Given the description of an element on the screen output the (x, y) to click on. 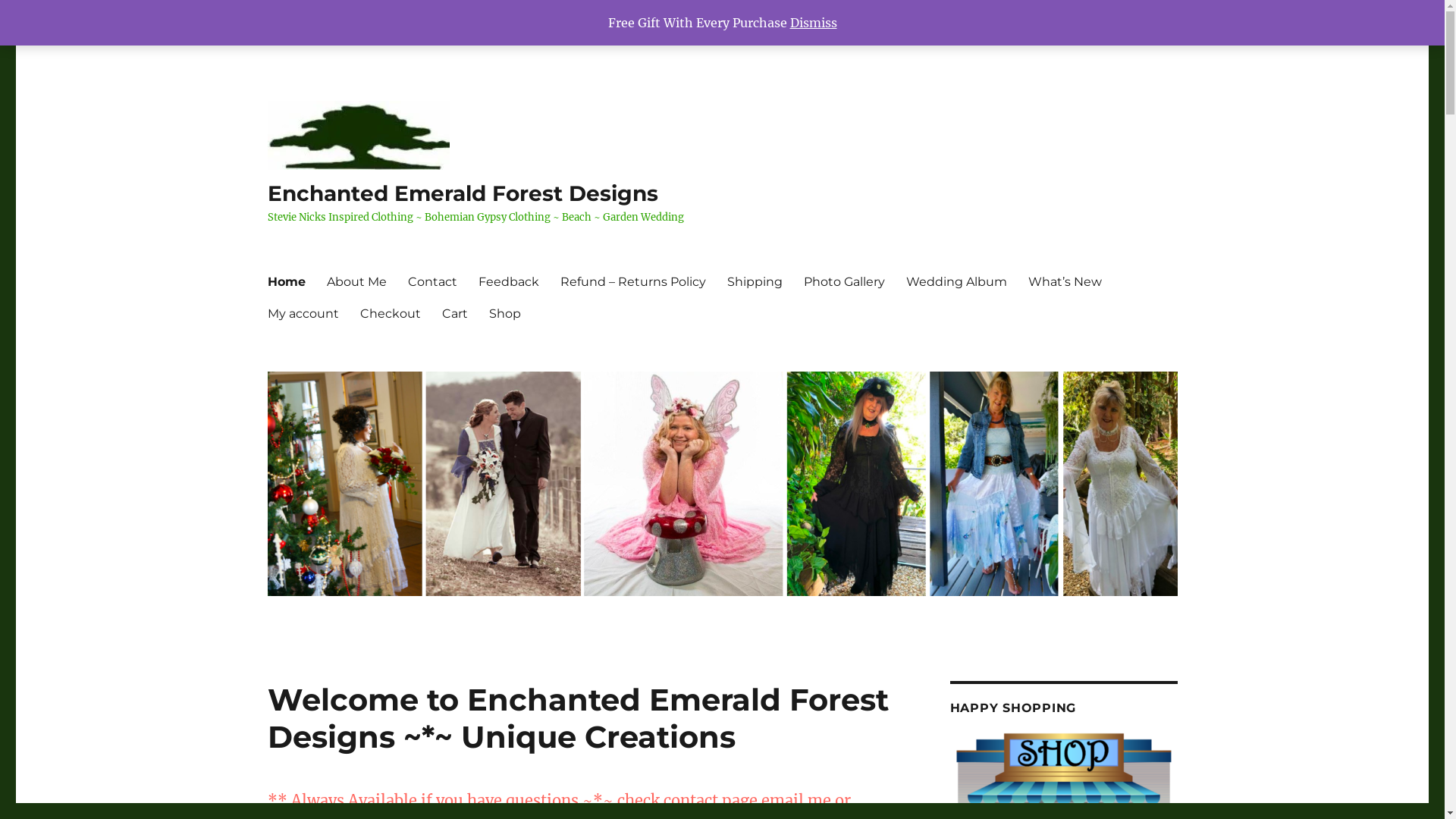
Photo Gallery Element type: text (844, 281)
Shipping Element type: text (753, 281)
Enchanted Emerald Forest Designs Element type: text (461, 193)
Dismiss Element type: text (813, 22)
Contact Element type: text (432, 281)
Checkout Element type: text (389, 313)
Feedback Element type: text (508, 281)
About Me Element type: text (355, 281)
Home Element type: text (285, 281)
Cart Element type: text (453, 313)
My account Element type: text (302, 313)
Shop Element type: text (503, 313)
Wedding Album Element type: text (955, 281)
